Given the description of an element on the screen output the (x, y) to click on. 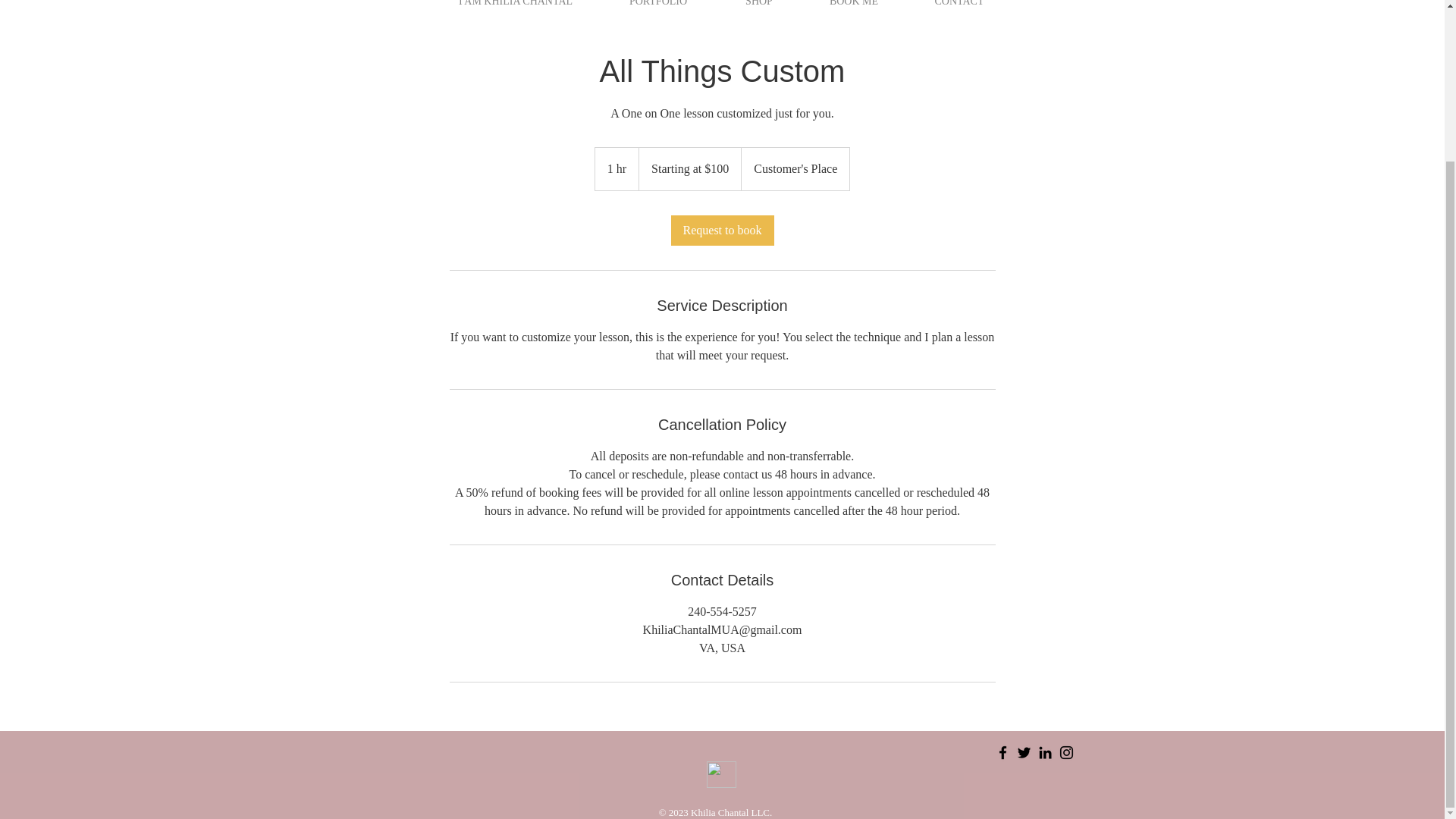
SHOP (759, 6)
I AM KHILIA CHANTAL (514, 6)
CONTACT (958, 6)
PORTFOLIO (657, 6)
Request to book (721, 230)
BOOK ME (853, 6)
